Given the description of an element on the screen output the (x, y) to click on. 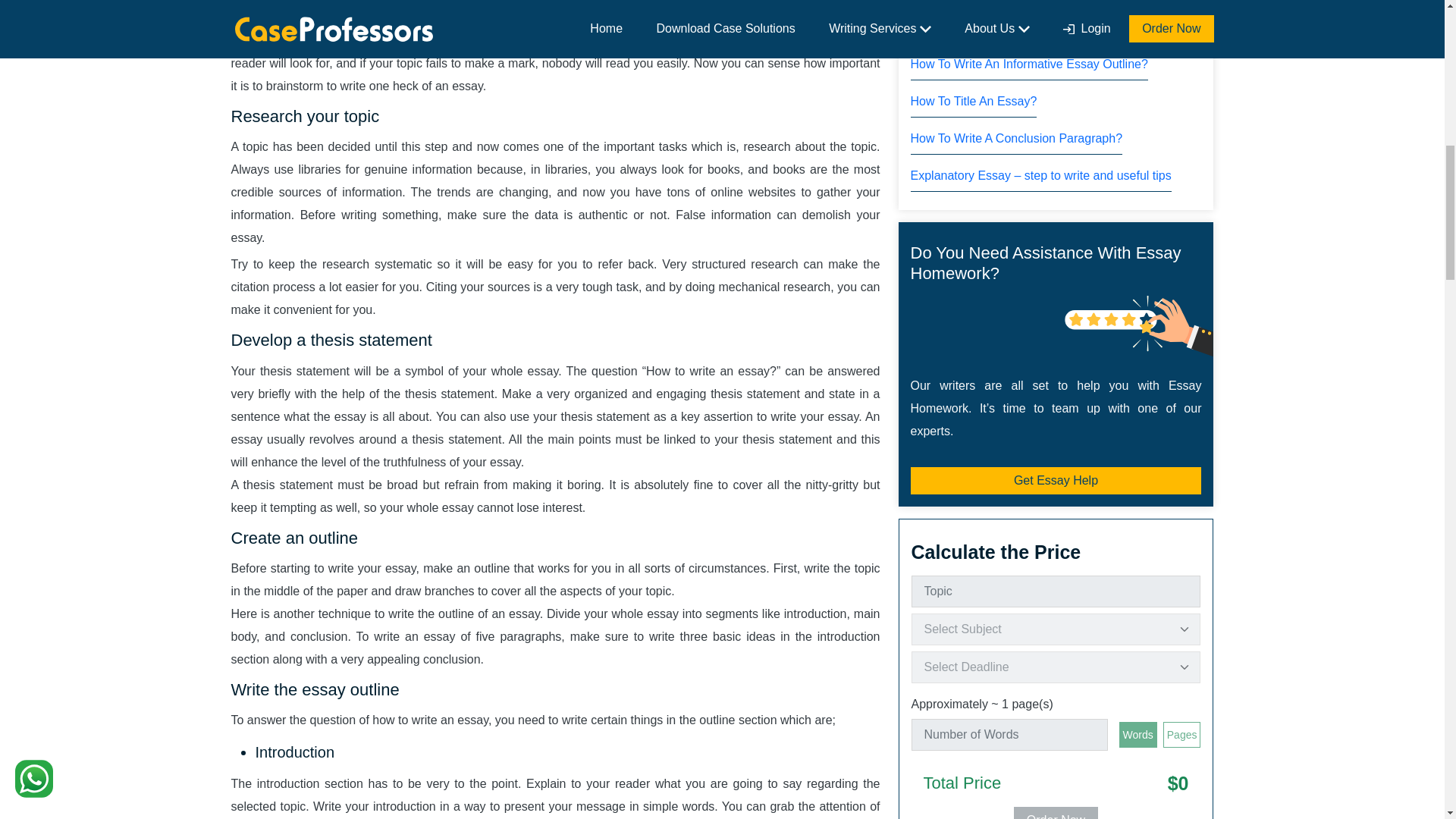
0 (1124, 734)
1 (1124, 734)
